Given the description of an element on the screen output the (x, y) to click on. 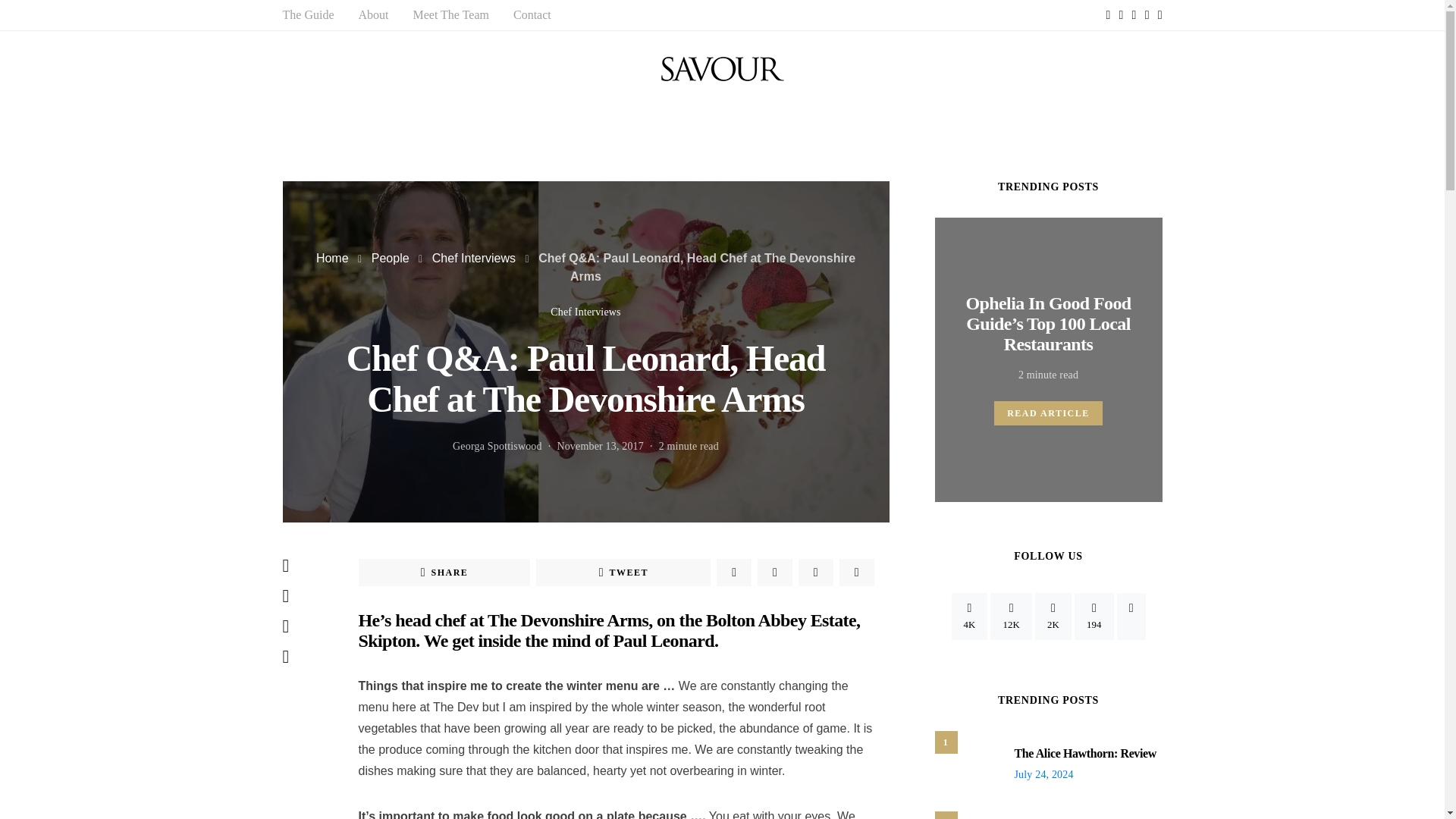
PEOPLE (634, 125)
The Guide (307, 14)
About (373, 14)
View all posts by Georga Spottiswood (496, 446)
DRINK (564, 125)
REVIEWS (715, 125)
Contact (532, 14)
Meet The Team (449, 14)
